Given the description of an element on the screen output the (x, y) to click on. 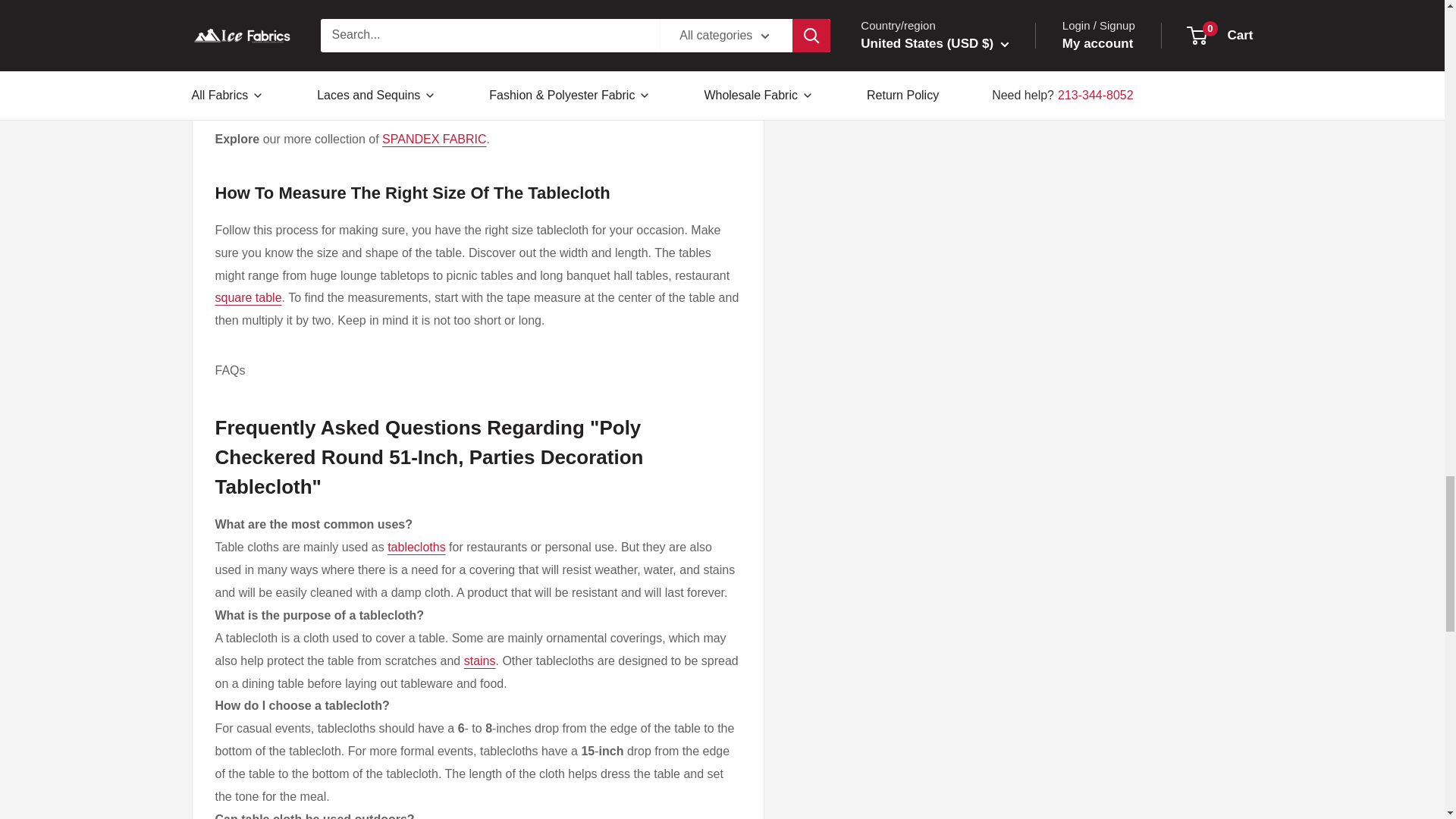
Napkins - IceFabrics (545, 107)
